Given the description of an element on the screen output the (x, y) to click on. 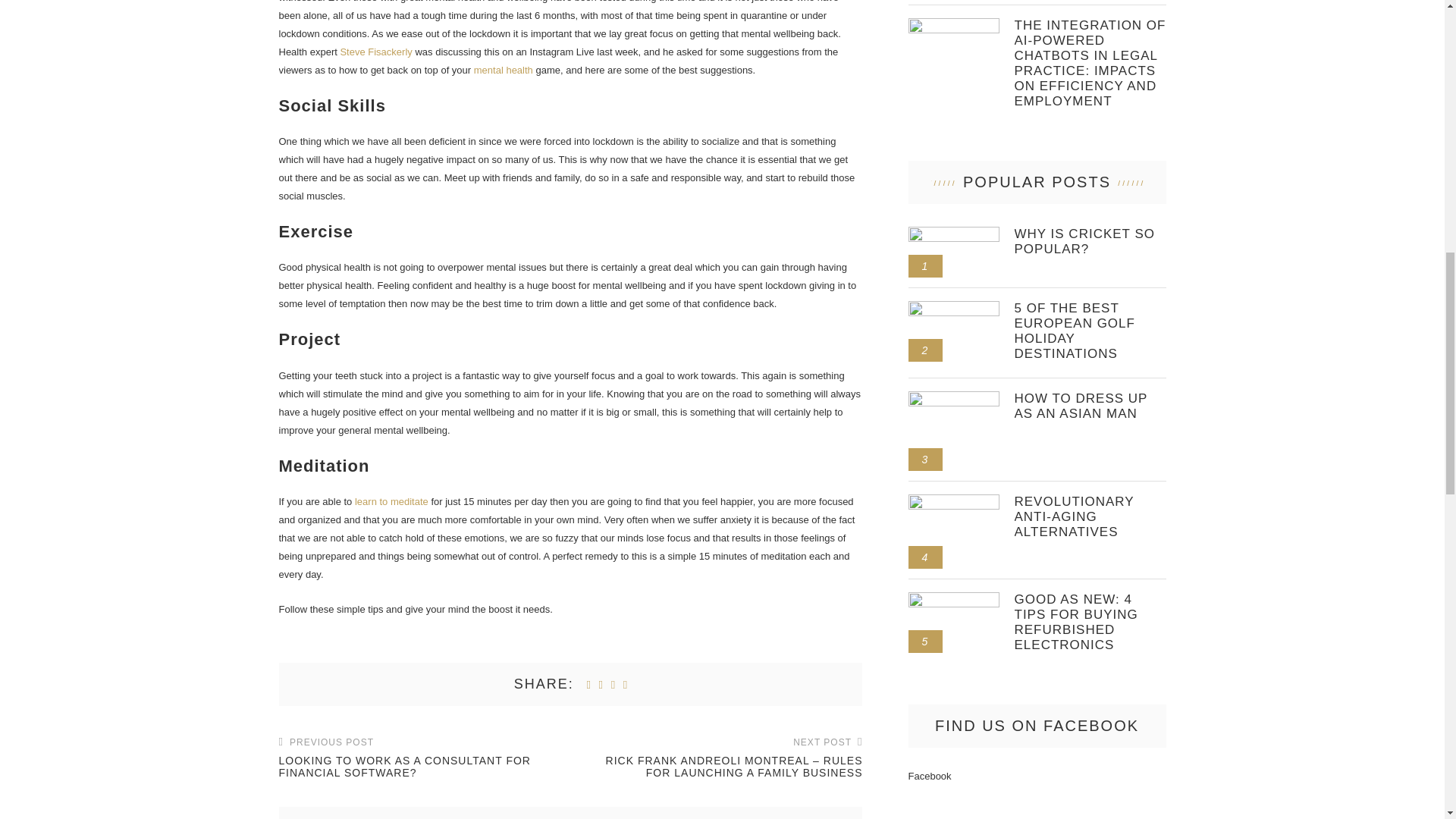
5 of the Best European Golf Holiday Destinations (1090, 331)
5 of the Best European Golf Holiday Destinations (953, 306)
Why is cricket so popular? (953, 232)
Why is cricket so popular? (1090, 241)
How to dress up as an Asian man (953, 397)
